Given the description of an element on the screen output the (x, y) to click on. 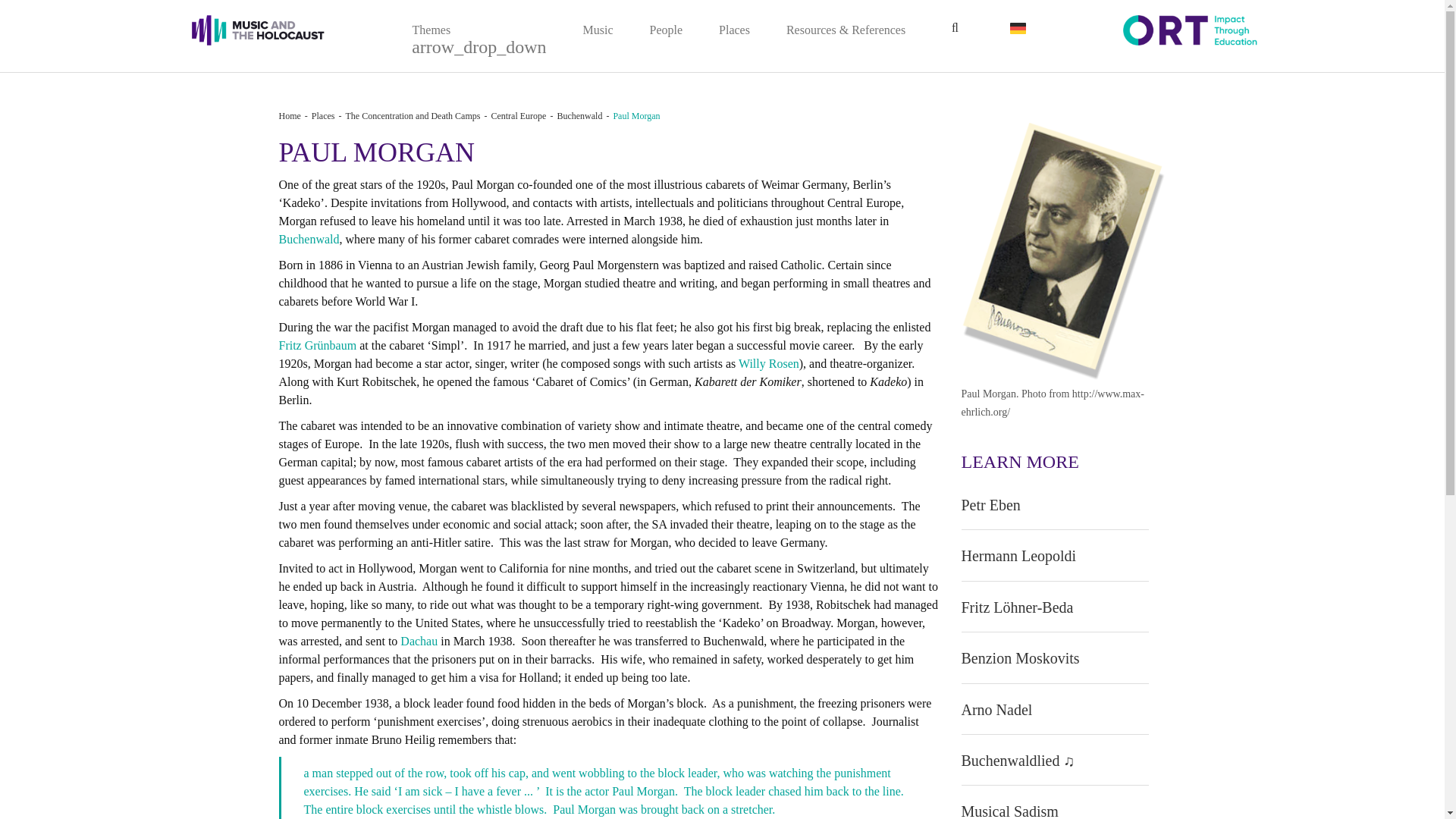
Buchenwald (579, 115)
The Concentration and Death Camps (412, 115)
Places (734, 29)
Benzion Moskovits (1020, 658)
Musical Sadism (1009, 811)
Willy Rosen (768, 363)
Home (290, 115)
Arno Nadel (996, 709)
Buchenwald (309, 238)
Dachau (420, 640)
